Given the description of an element on the screen output the (x, y) to click on. 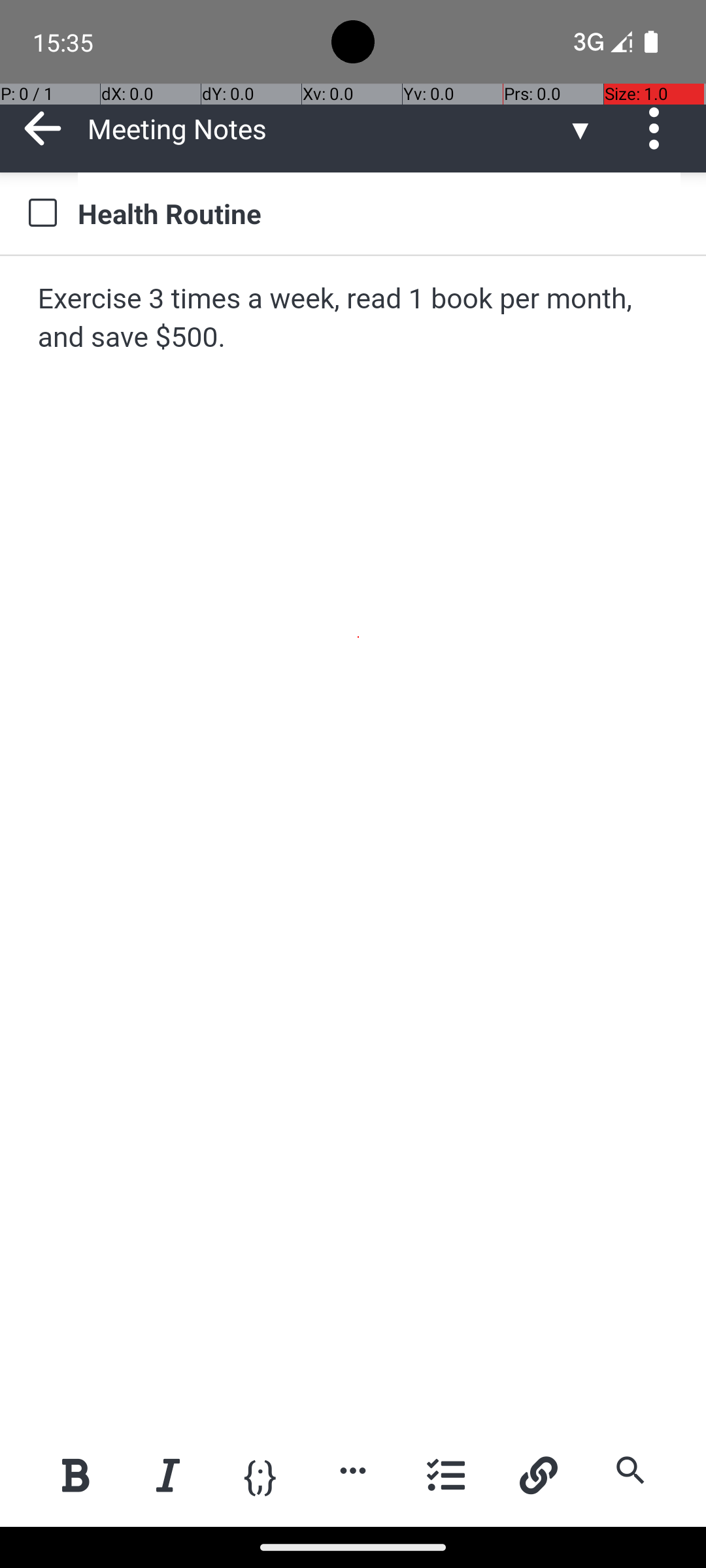
Health Routine Element type: android.widget.EditText (378, 213)
Meeting Notes Element type: android.widget.TextView (326, 128)
Exercise 3 times a week, read 1 book per month, and save $500. Element type: android.widget.EditText (354, 318)
